Given the description of an element on the screen output the (x, y) to click on. 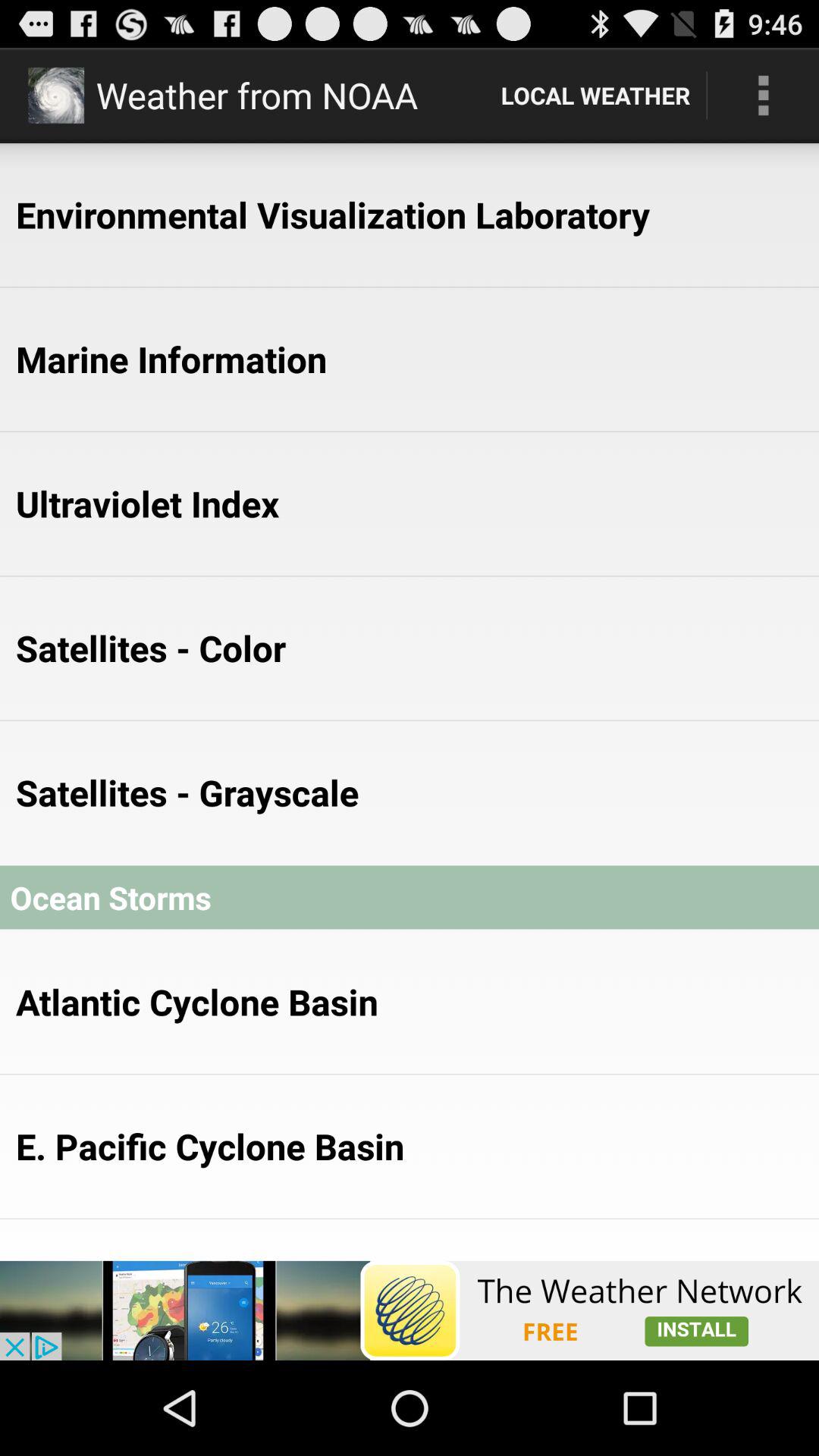
click advertisement (409, 1310)
